Given the description of an element on the screen output the (x, y) to click on. 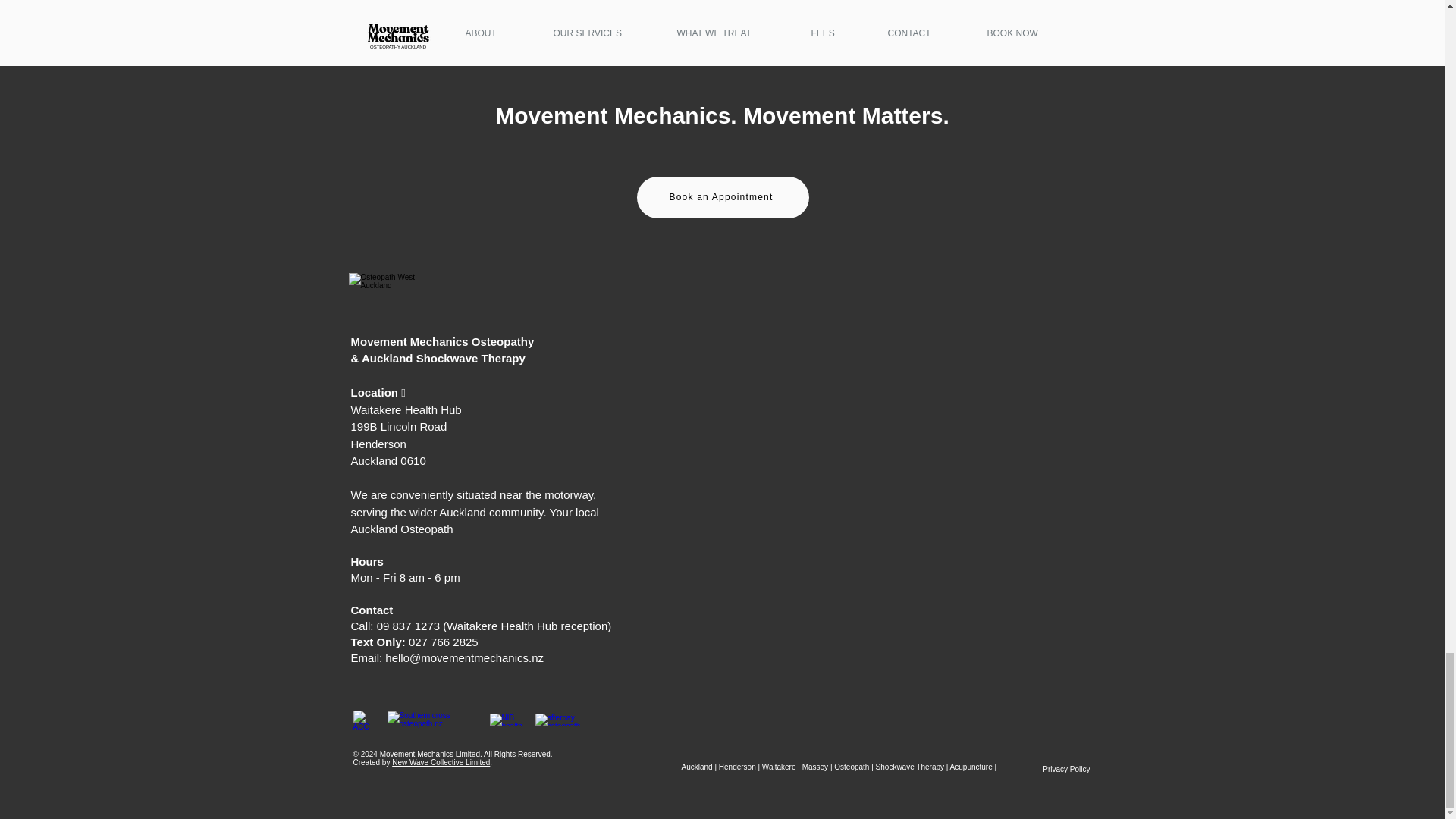
nib health osteopath auckland (508, 719)
